Given the description of an element on the screen output the (x, y) to click on. 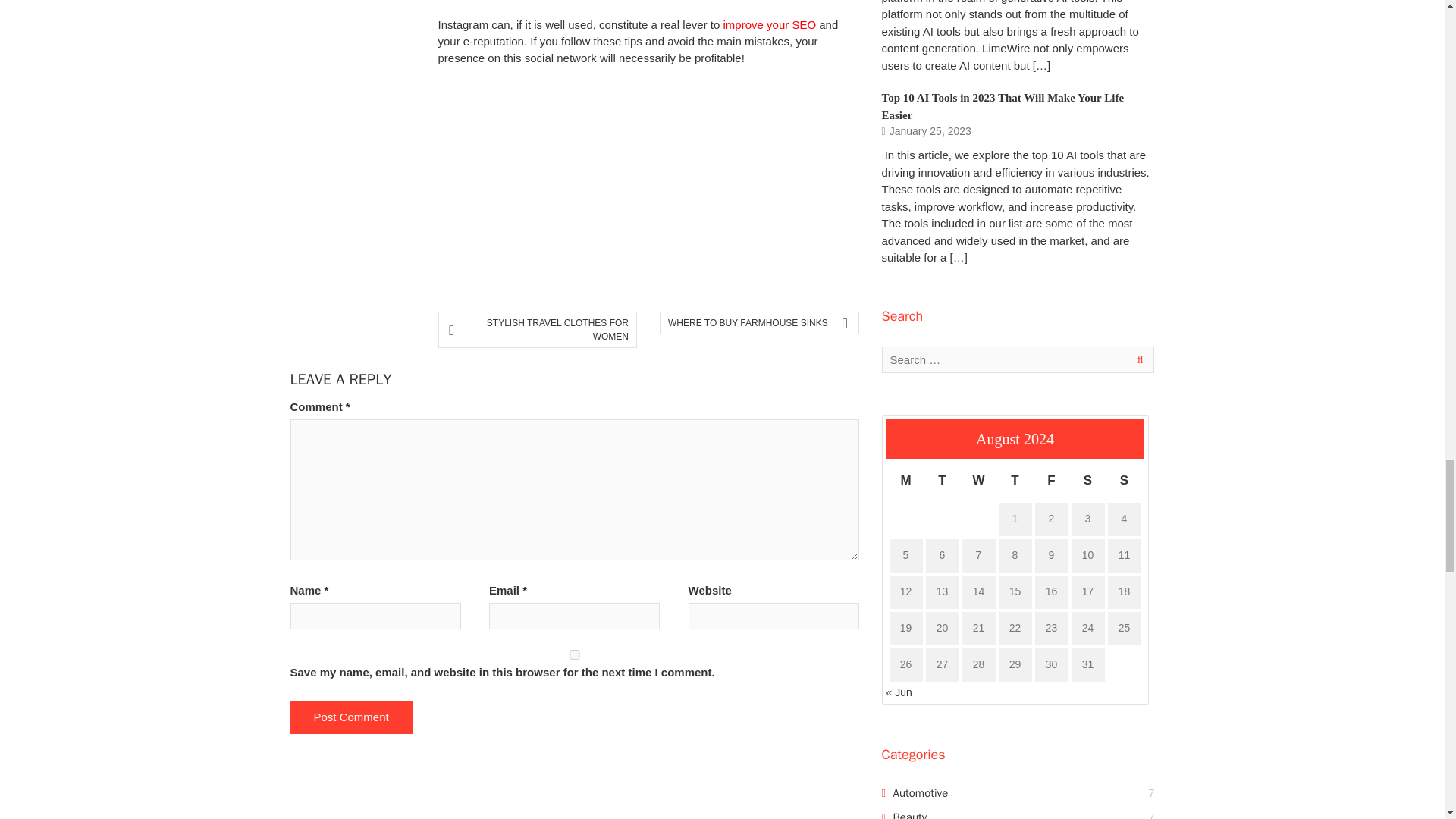
yes (574, 655)
Post Comment (350, 717)
Search (1136, 358)
Search (1136, 358)
